Given the description of an element on the screen output the (x, y) to click on. 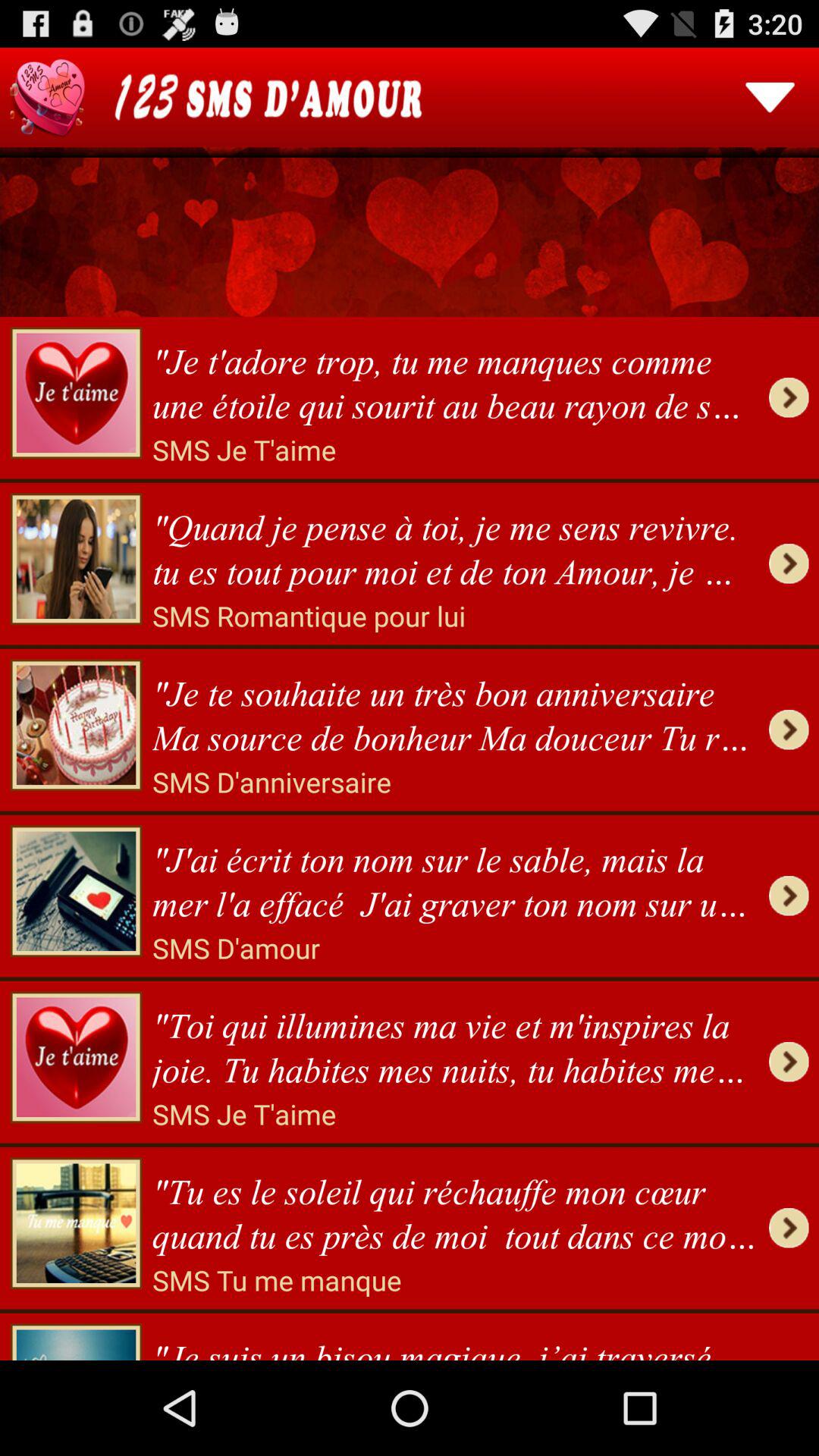
choose quand je pense item (455, 545)
